Given the description of an element on the screen output the (x, y) to click on. 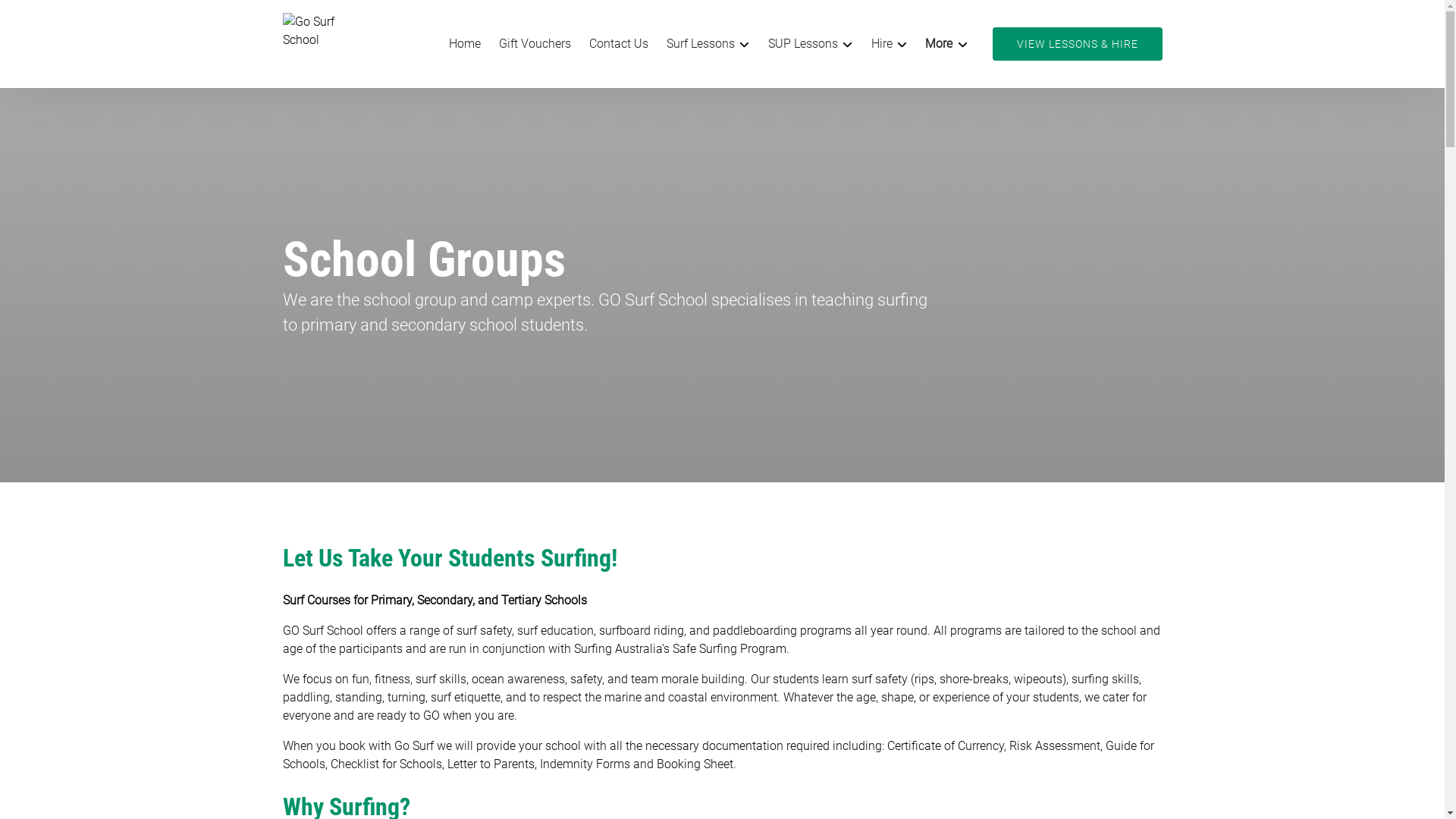
Surf Lessons Element type: text (708, 43)
Hire Element type: text (889, 43)
Skip to content Element type: text (47, 16)
Contact Us Element type: text (618, 43)
More Element type: text (946, 43)
Home Element type: text (464, 43)
VIEW LESSONS & HIRE Element type: text (1076, 43)
Gift Vouchers Element type: text (534, 43)
SUP Lessons Element type: text (810, 43)
Skip to primary navigation Element type: text (77, 16)
Skip to footer Element type: text (42, 16)
